Given the description of an element on the screen output the (x, y) to click on. 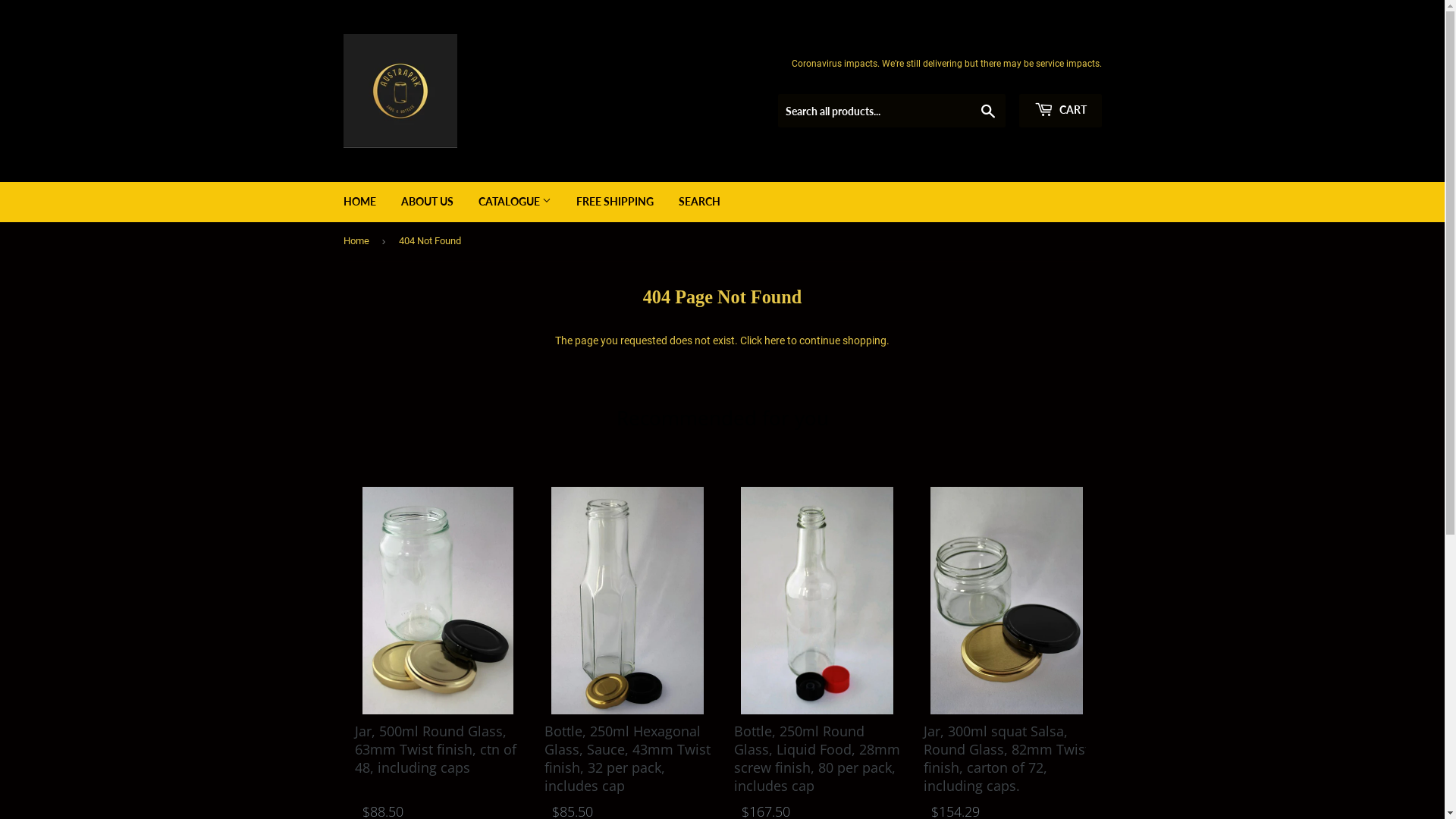
SEARCH Element type: text (704, 201)
Search Element type: text (993, 111)
here Element type: text (779, 340)
ABOUT US Element type: text (432, 201)
Home Element type: text (363, 240)
FREE SHIPPING Element type: text (620, 201)
CATALOGUE Element type: text (519, 201)
HOME Element type: text (364, 201)
CART Element type: text (1065, 110)
